Given the description of an element on the screen output the (x, y) to click on. 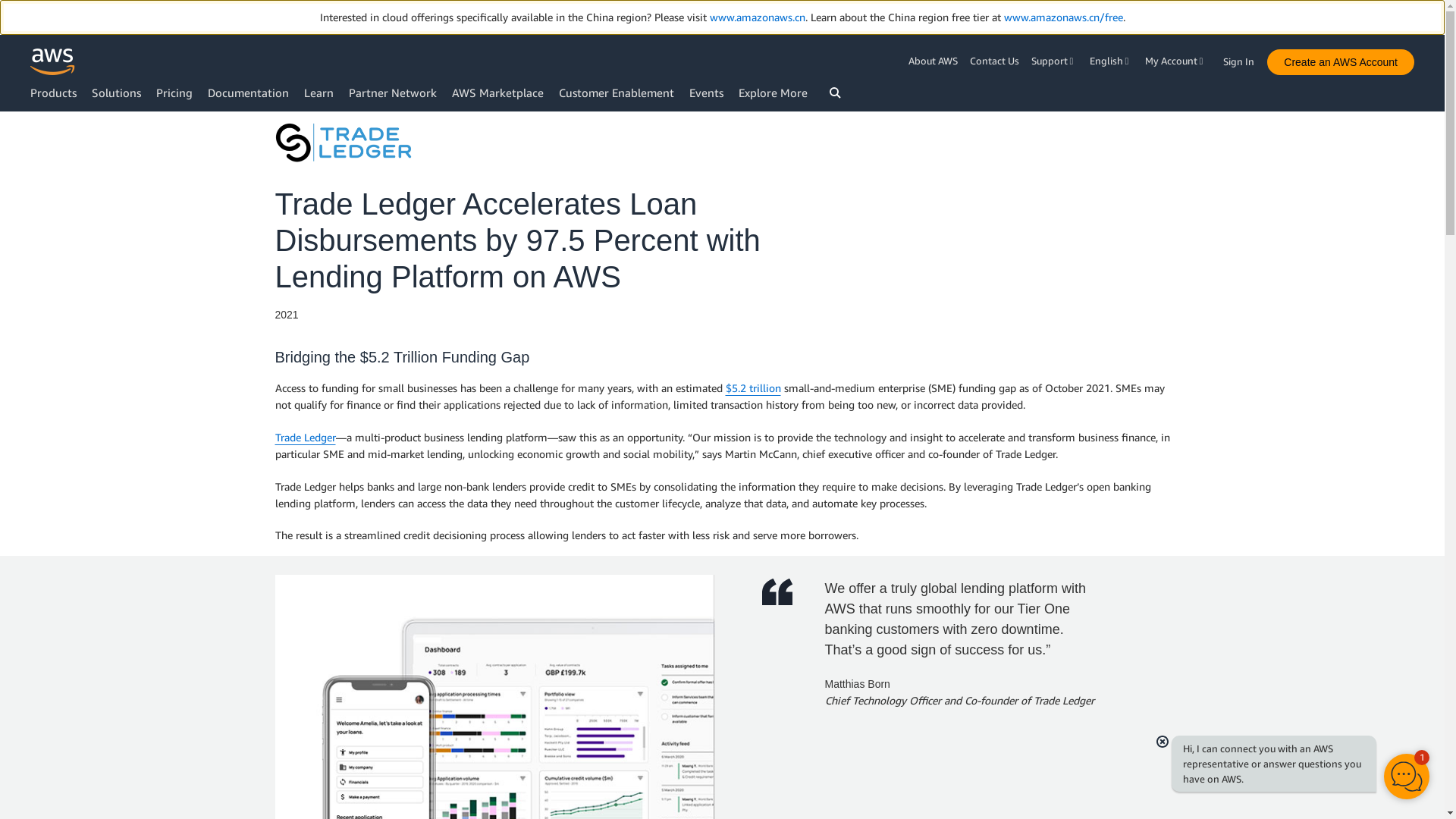
Documentation (248, 92)
Sign In (1243, 58)
Partner Network (392, 92)
Events (705, 92)
Pricing (173, 92)
Explore More (773, 92)
English  (1110, 60)
Create an AWS Account (1339, 62)
Trade Ledger (342, 142)
Learn (318, 92)
Click here to return to Amazon Web Services homepage (52, 61)
Customer Enablement (616, 92)
Solutions (116, 92)
www.amazonaws.cn (757, 16)
AWS Marketplace (497, 92)
